Given the description of an element on the screen output the (x, y) to click on. 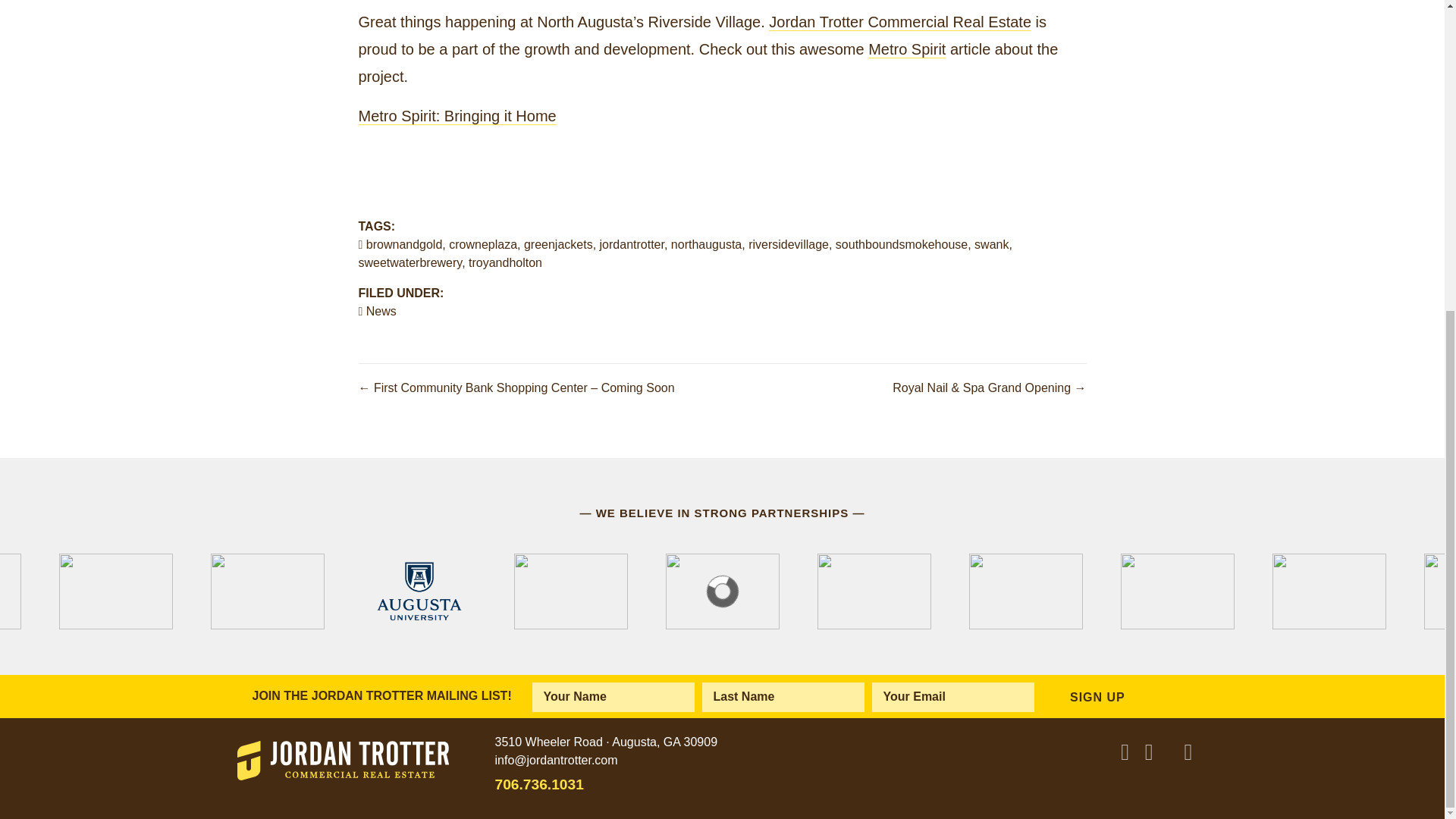
SIGN UP (1092, 696)
crowneplaza (482, 244)
jordantrotter (631, 244)
swank (991, 244)
northaugusta (706, 244)
southboundsmokehouse (901, 244)
Metro Spirit (905, 49)
brownandgold (404, 244)
News (381, 310)
Jordan Trotter Commercial Real Estate (899, 22)
